Given the description of an element on the screen output the (x, y) to click on. 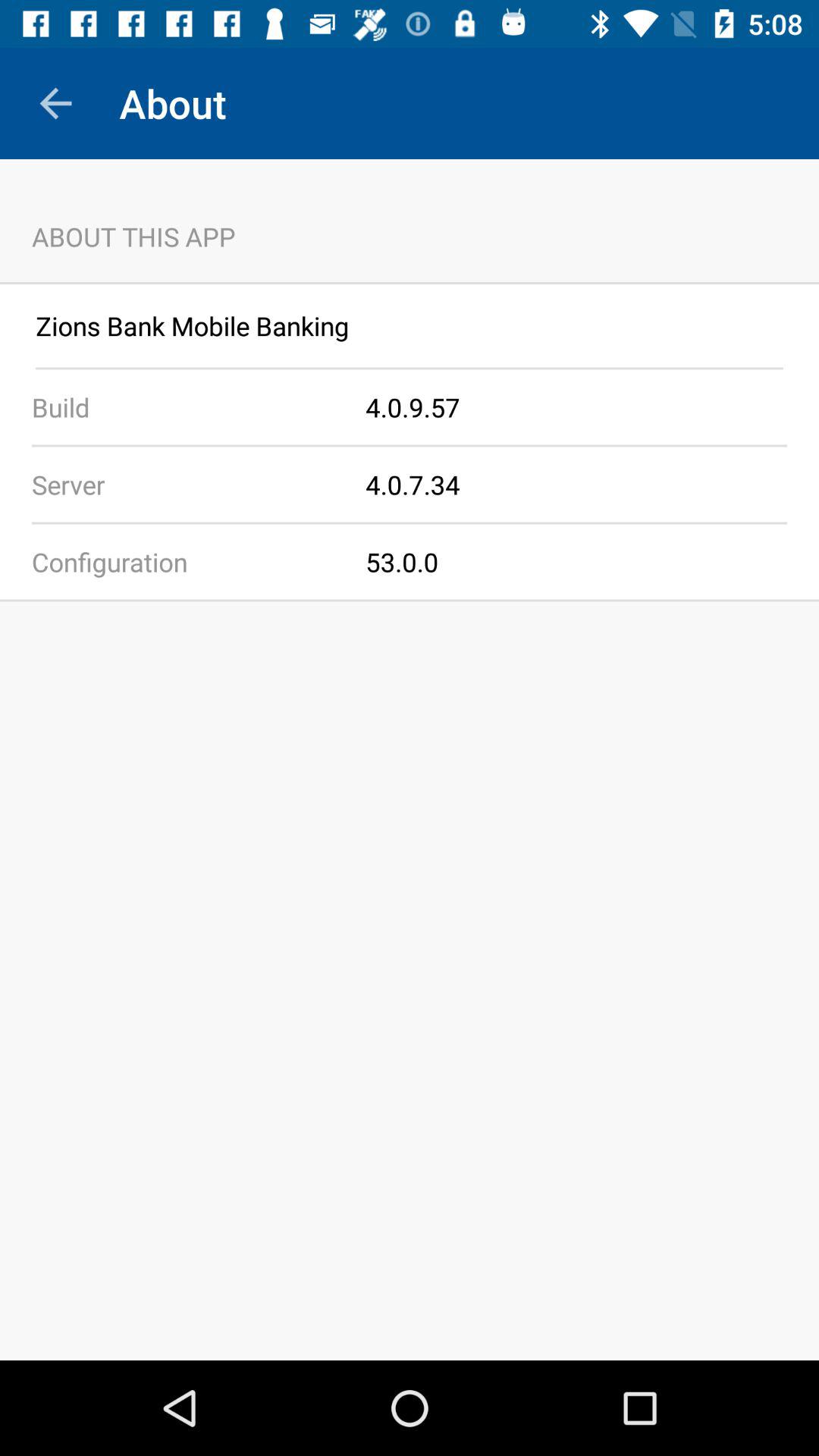
turn off server icon (182, 484)
